Given the description of an element on the screen output the (x, y) to click on. 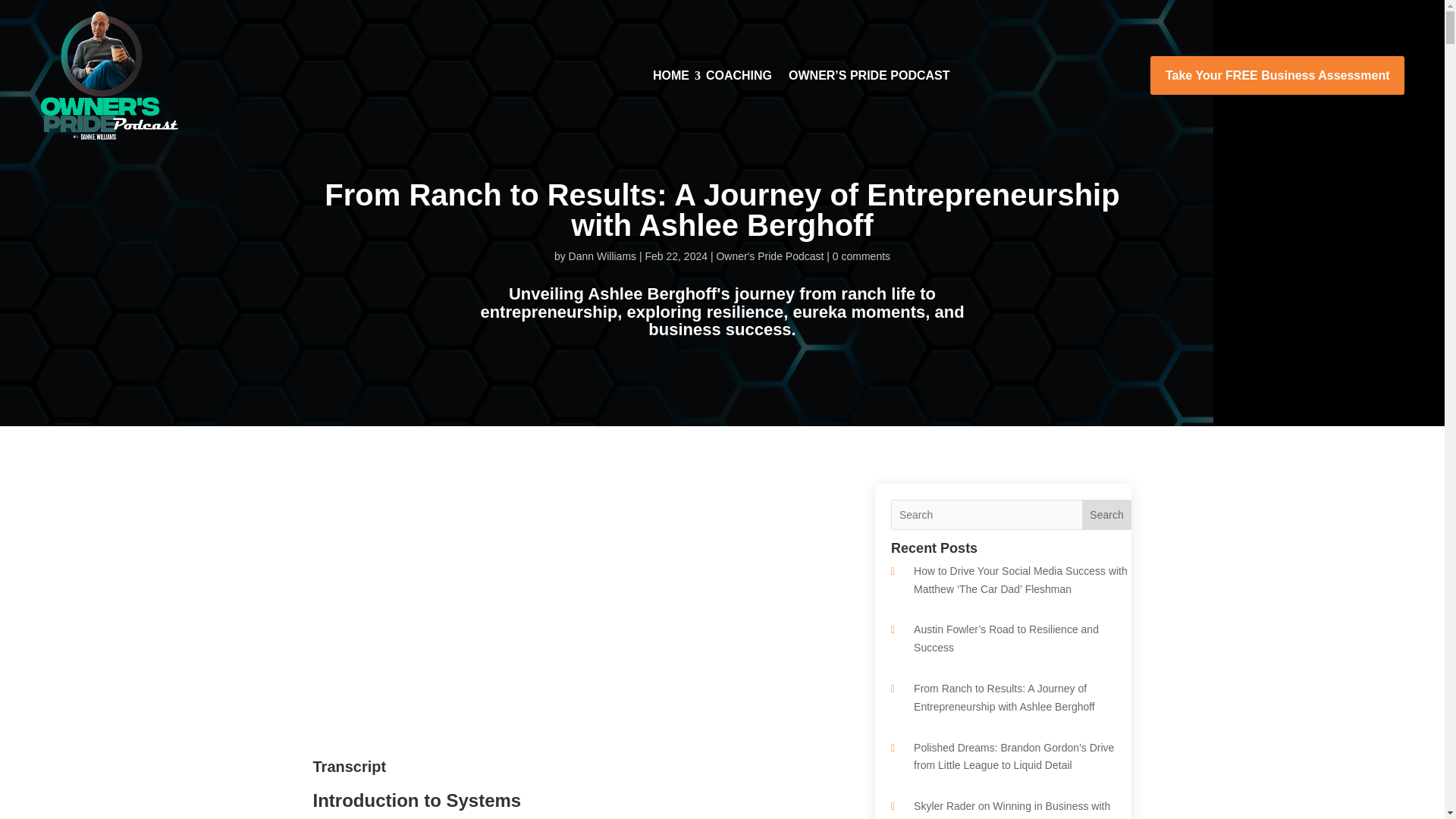
Dann Williams (602, 256)
Search (1106, 514)
Posts by Dann Williams (602, 256)
Owner's Pride Podcast (770, 256)
0 comments (860, 256)
Take Your FREE Business Assessment (1277, 75)
